Given the description of an element on the screen output the (x, y) to click on. 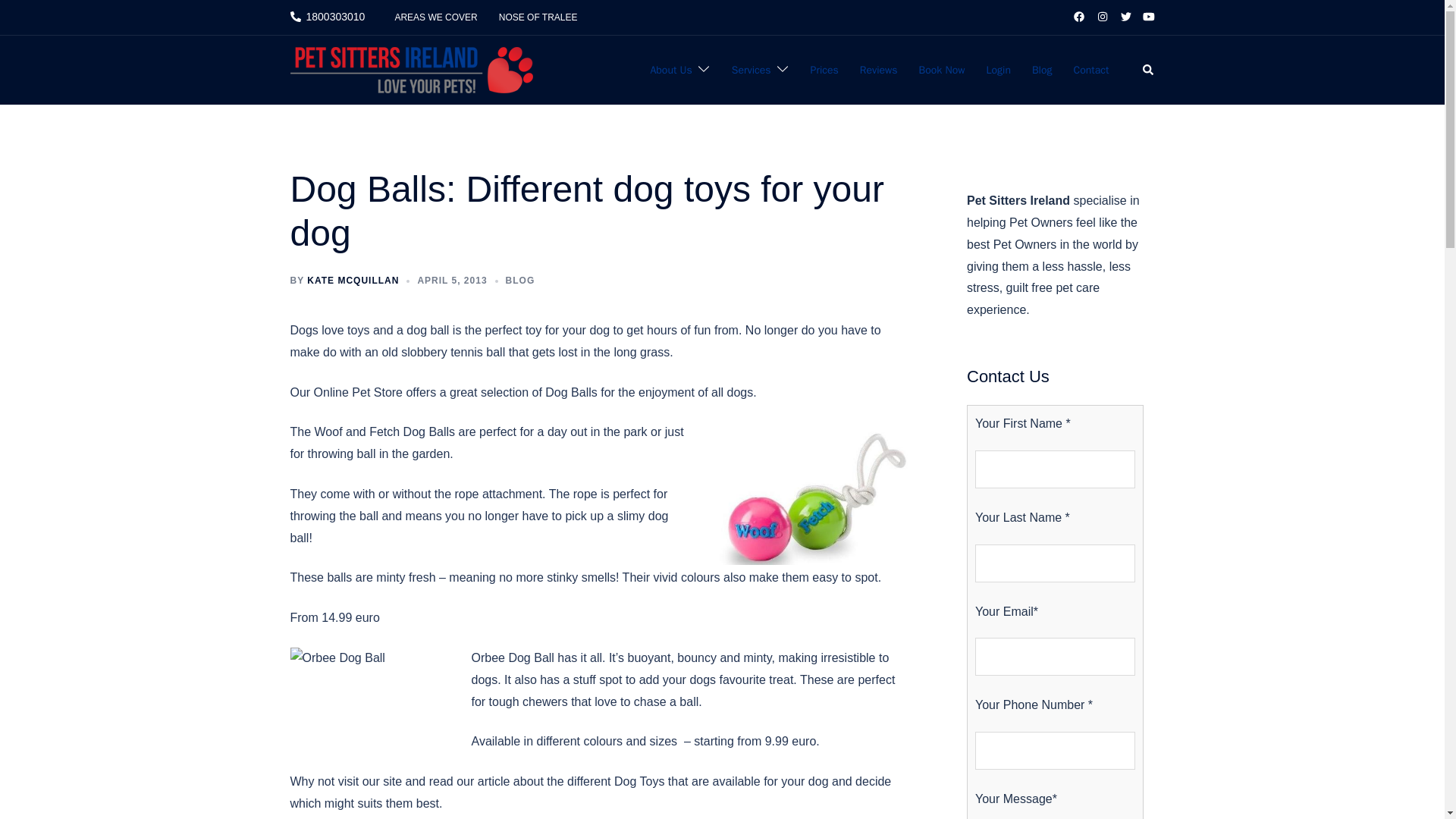
AREAS WE COVER (435, 17)
Orbee Dog Ball (370, 694)
About Us (670, 69)
Dog Ball (808, 492)
Prices (824, 69)
Services (751, 69)
Contact (1091, 69)
Login (997, 69)
1800303010 (327, 17)
Book Now (941, 69)
